Given the description of an element on the screen output the (x, y) to click on. 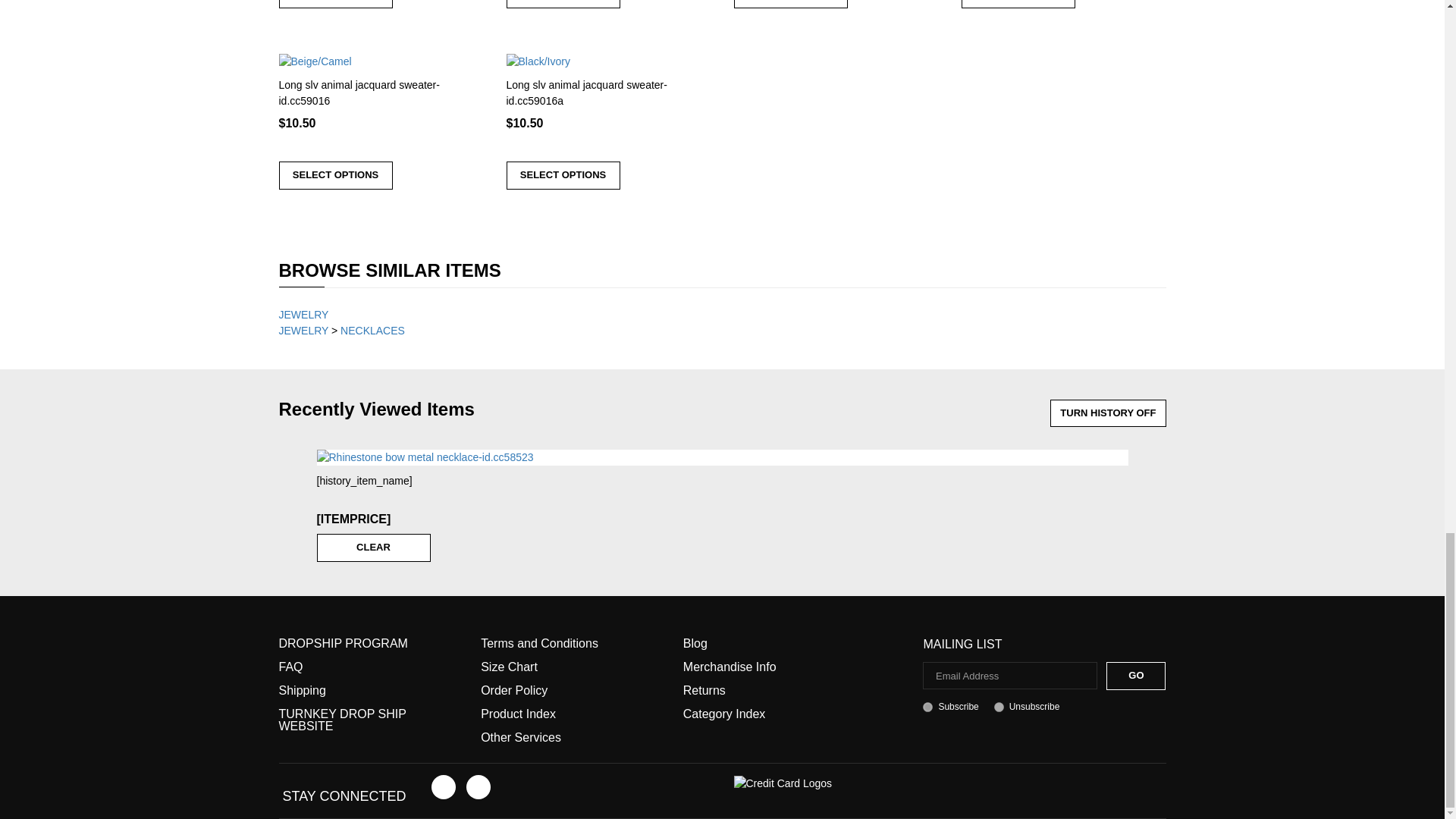
1 (928, 706)
Credit Card Logos (782, 783)
Follow Us on Instagram (477, 786)
0 (999, 706)
Like Us on Facebook (442, 786)
